Given the description of an element on the screen output the (x, y) to click on. 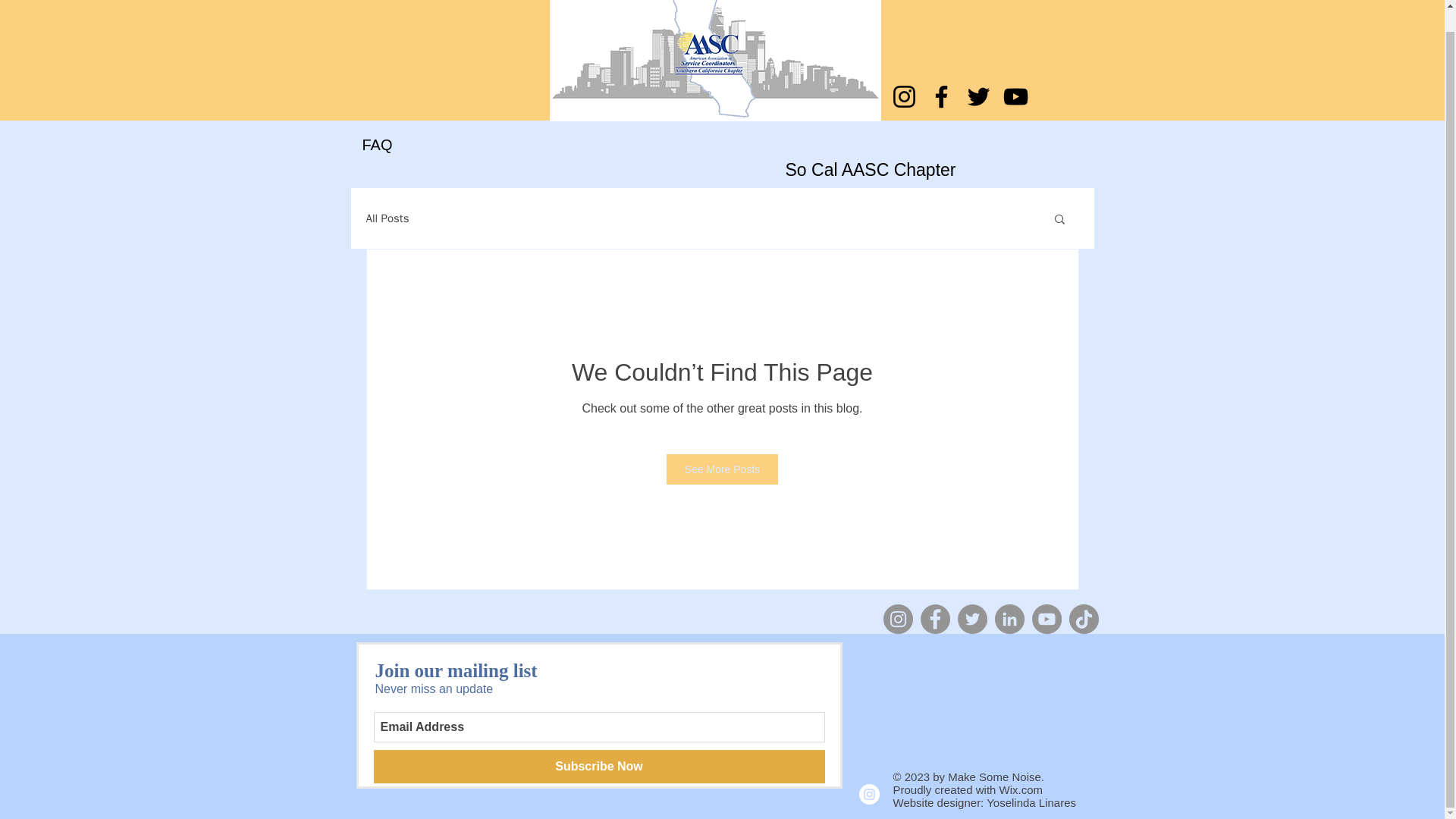
Subscribe Now (598, 766)
Wix.com (1020, 789)
FAQ (372, 144)
See More Posts (722, 469)
All Posts (387, 217)
